Given the description of an element on the screen output the (x, y) to click on. 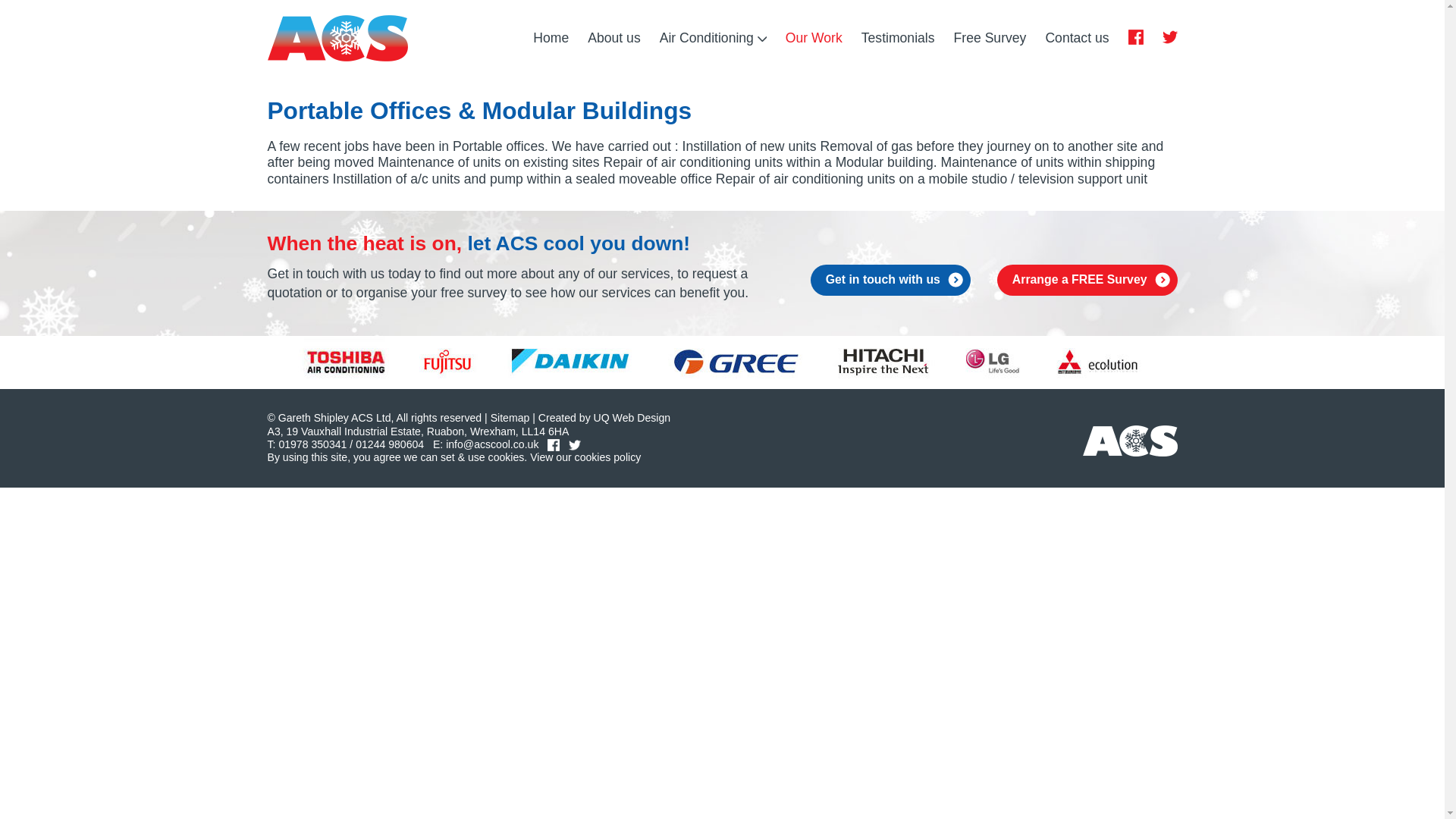
View homepage (550, 37)
Air Conditioning (713, 37)
Testimonials (897, 37)
Find out more about ACS (614, 37)
UQ Web Design (631, 417)
01978 350341 (312, 444)
View the full range of air conditioning services we provide (713, 37)
Sitemap (509, 417)
Arrange a FREE Survey (1087, 279)
Contact us (1076, 37)
Get in touch with us (890, 279)
Our Work (814, 37)
Free Survey (989, 37)
About us (614, 37)
Home (550, 37)
